Given the description of an element on the screen output the (x, y) to click on. 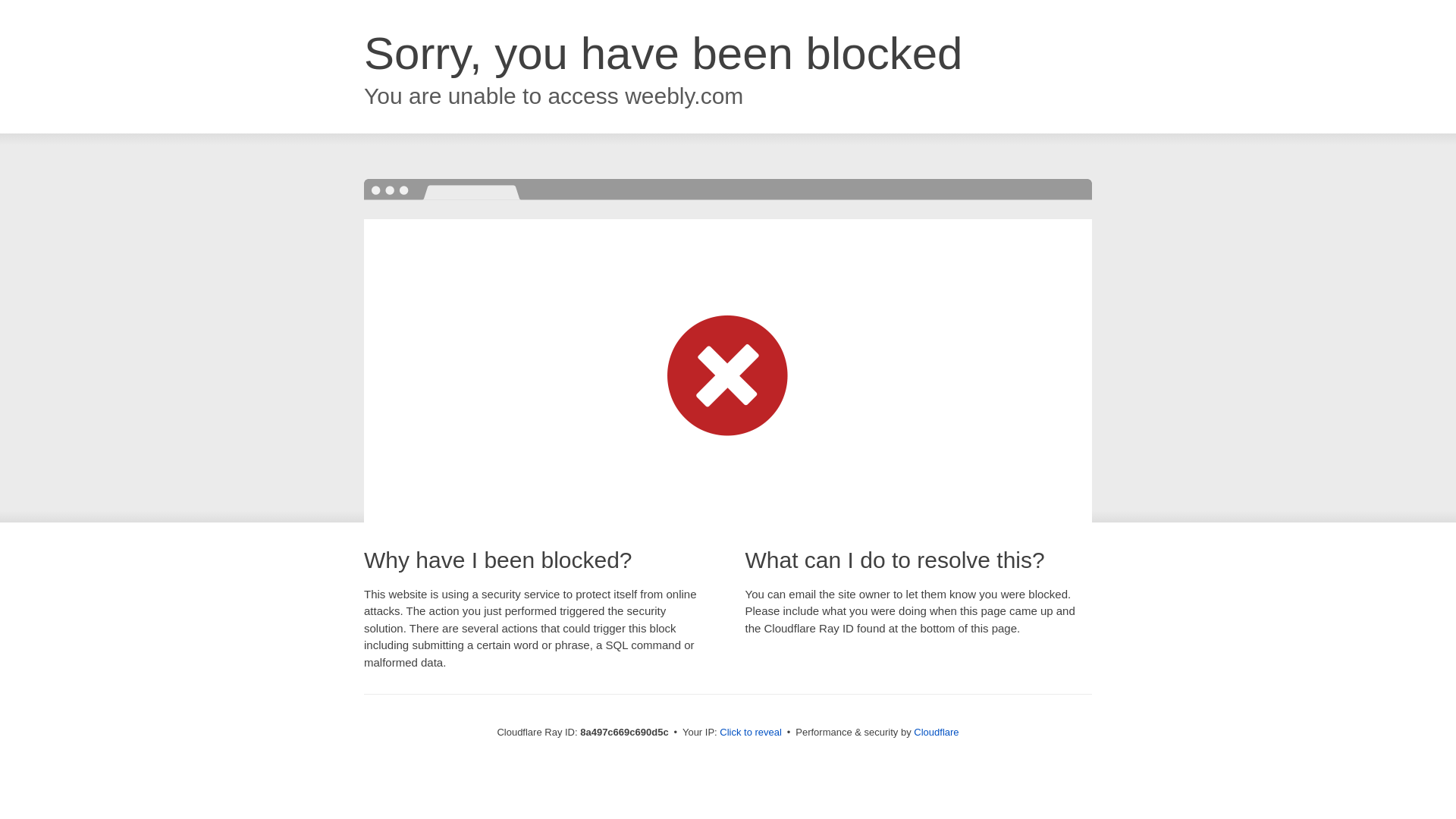
Cloudflare (936, 731)
Click to reveal (750, 732)
